Given the description of an element on the screen output the (x, y) to click on. 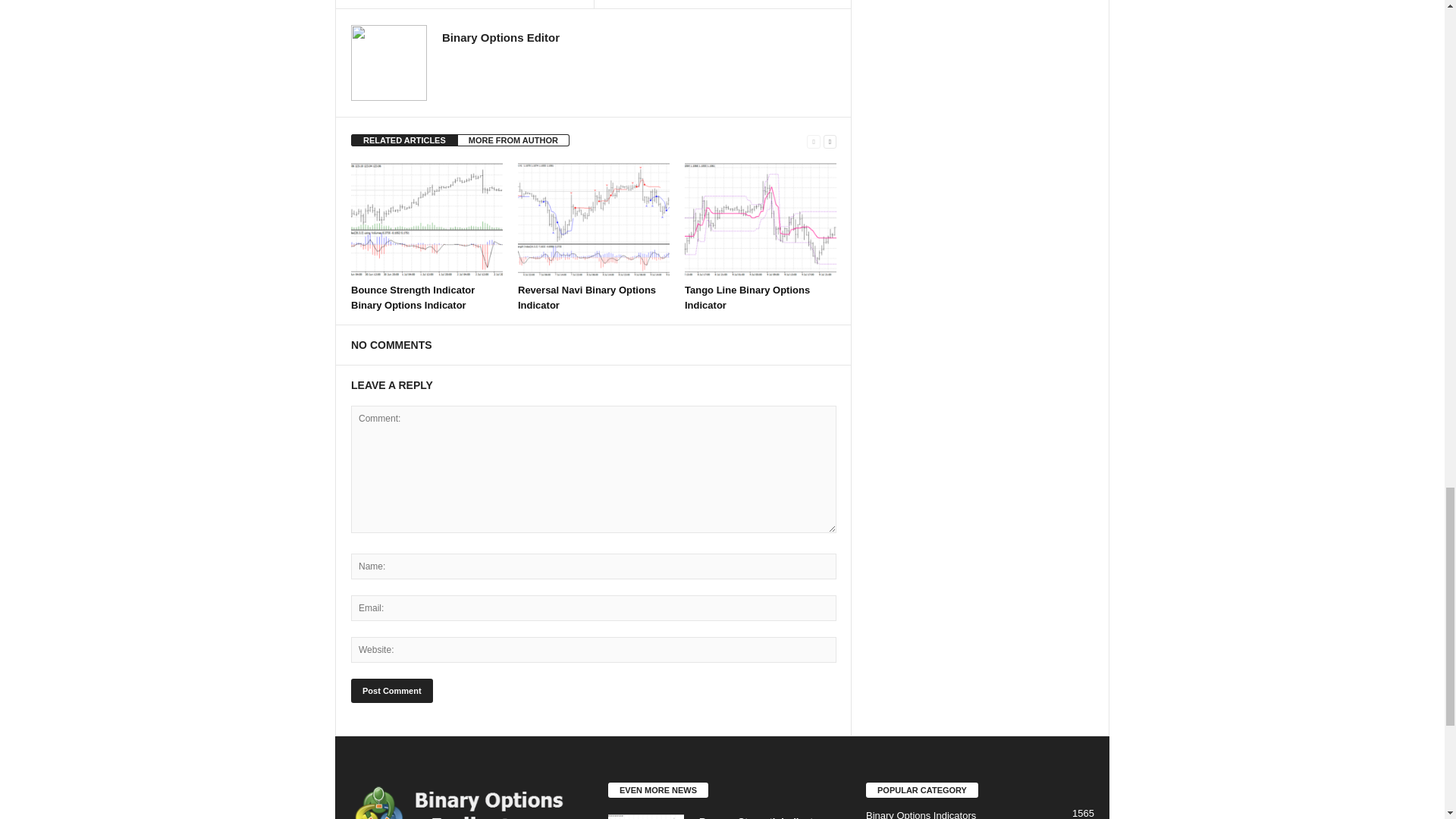
MORE FROM AUTHOR (513, 140)
Bounce Strength Indicator Binary Options Indicator (412, 297)
Reversal Navi Binary Options Indicator (587, 297)
Bounce Strength Indicator Binary Options Indicator (426, 219)
Tango Line Binary Options Indicator (746, 297)
Binary Options Editor (500, 37)
Tango Line Binary Options Indicator (746, 297)
Reversal Navi Binary Options Indicator (593, 219)
Reversal Navi Binary Options Indicator (587, 297)
RELATED ARTICLES (404, 140)
Bounce Strength Indicator Binary Options Indicator (412, 297)
Tango Line Binary Options Indicator (759, 219)
Post Comment (391, 690)
